Given the description of an element on the screen output the (x, y) to click on. 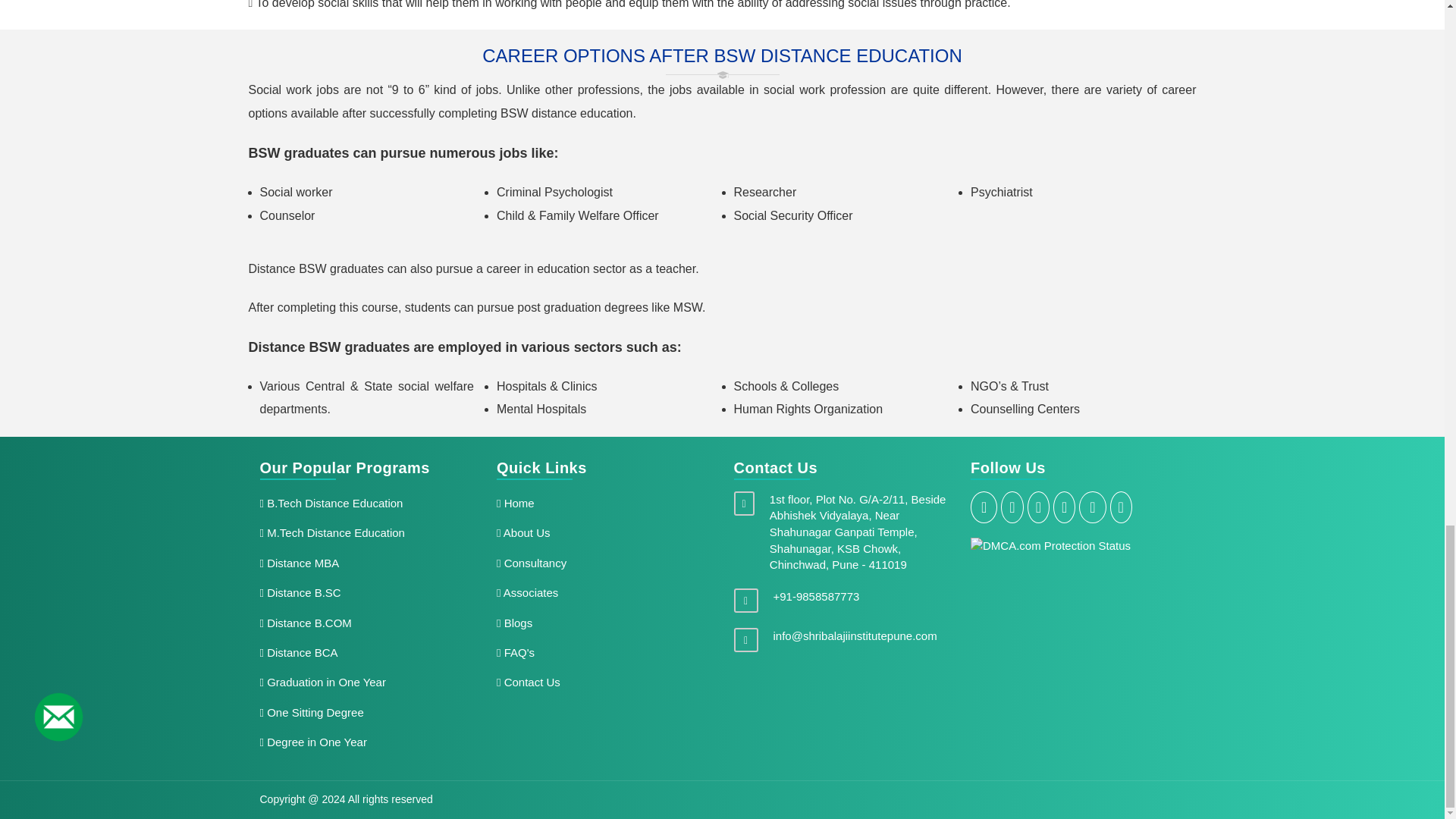
Degree in One Year (366, 741)
DMCA.com Protection Status (1051, 544)
Home (603, 502)
FAQ's (603, 652)
M.Tech Distance Education (366, 532)
Contact Us (603, 681)
Distance B.SC (366, 592)
Blogs (603, 623)
One Sitting Degree (366, 712)
B.Tech Distance Education (366, 502)
Distance MBA (366, 562)
Associates (603, 592)
Consultancy (603, 562)
Distance BCA (366, 652)
About Us (603, 532)
